Given the description of an element on the screen output the (x, y) to click on. 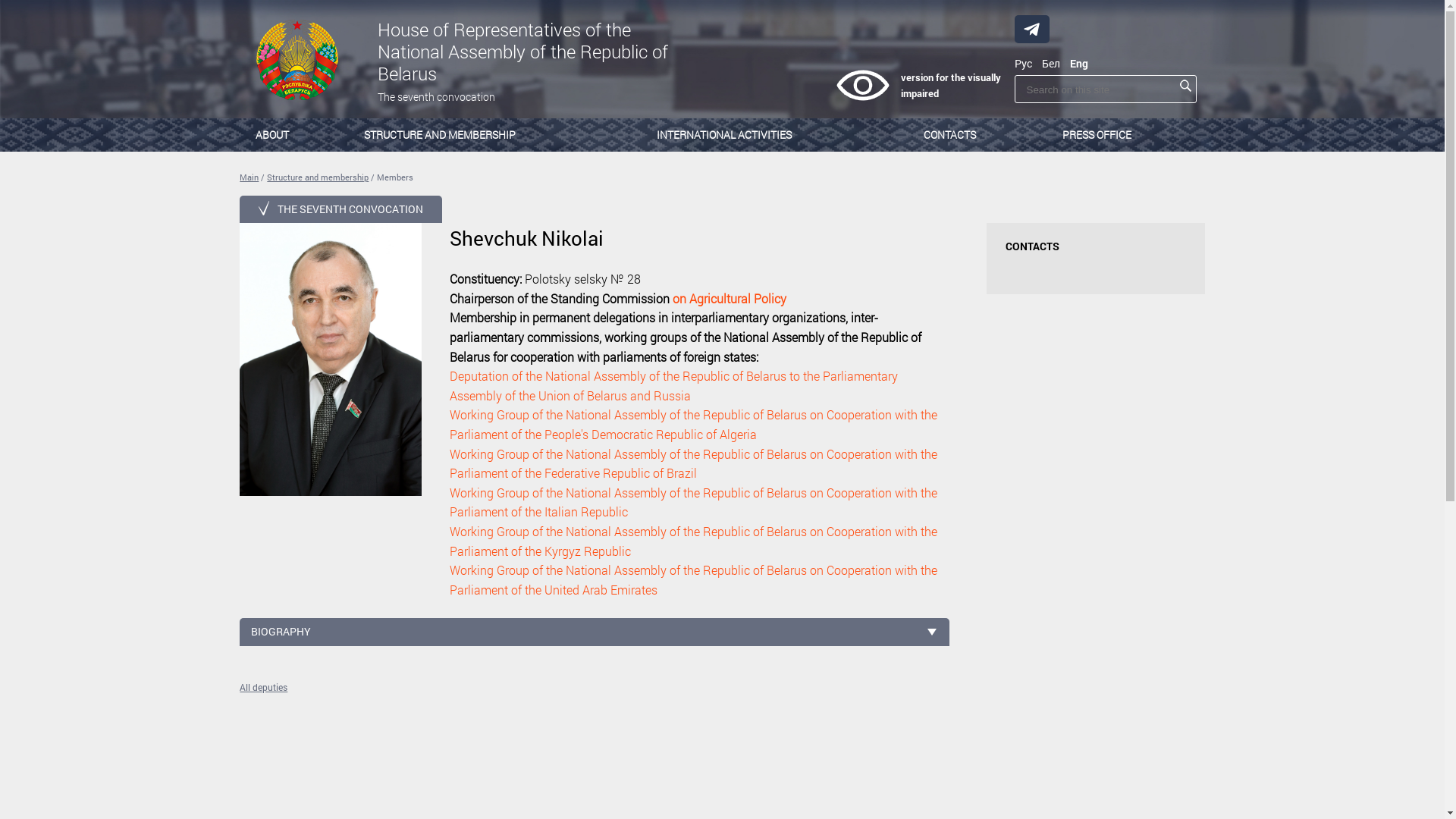
on Agricultural Policy Element type: text (729, 298)
PRESS OFFICE Element type: text (1126, 134)
ABOUT Element type: text (290, 134)
All deputies Element type: text (594, 687)
Structure and membership Element type: text (317, 176)
version for the visually impaired Element type: text (918, 85)
BIOGRAPHY Element type: text (594, 631)
telegram Element type: hover (1031, 29)
Main Element type: text (248, 176)
CONTACTS Element type: text (974, 134)
INTERNATIONAL ACTIVITIES Element type: text (771, 134)
Search Element type: hover (1185, 86)
STRUCTURE AND MEMBERSHIP Element type: text (491, 134)
telegram Element type: hover (1031, 28)
Back to main Element type: hover (297, 59)
version for the visually impaired Element type: hover (861, 84)
